Given the description of an element on the screen output the (x, y) to click on. 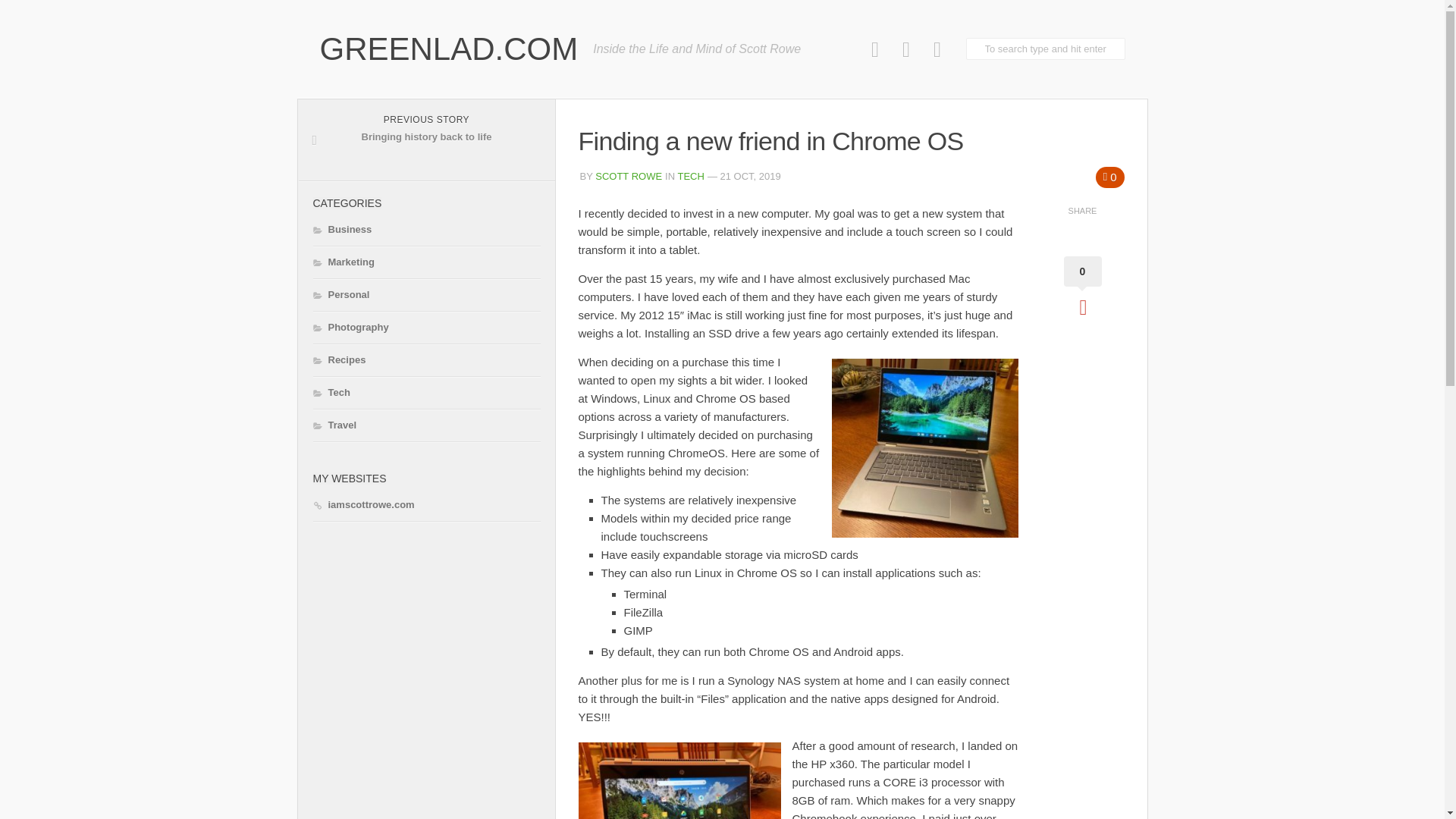
Recipes (339, 360)
Personal (341, 294)
RSS Feed (936, 49)
Posts by Scott Rowe (628, 175)
Travel (334, 425)
0 (1110, 177)
iamscottrowe.com (363, 504)
SCOTT ROWE (628, 175)
TECH (426, 139)
